Given the description of an element on the screen output the (x, y) to click on. 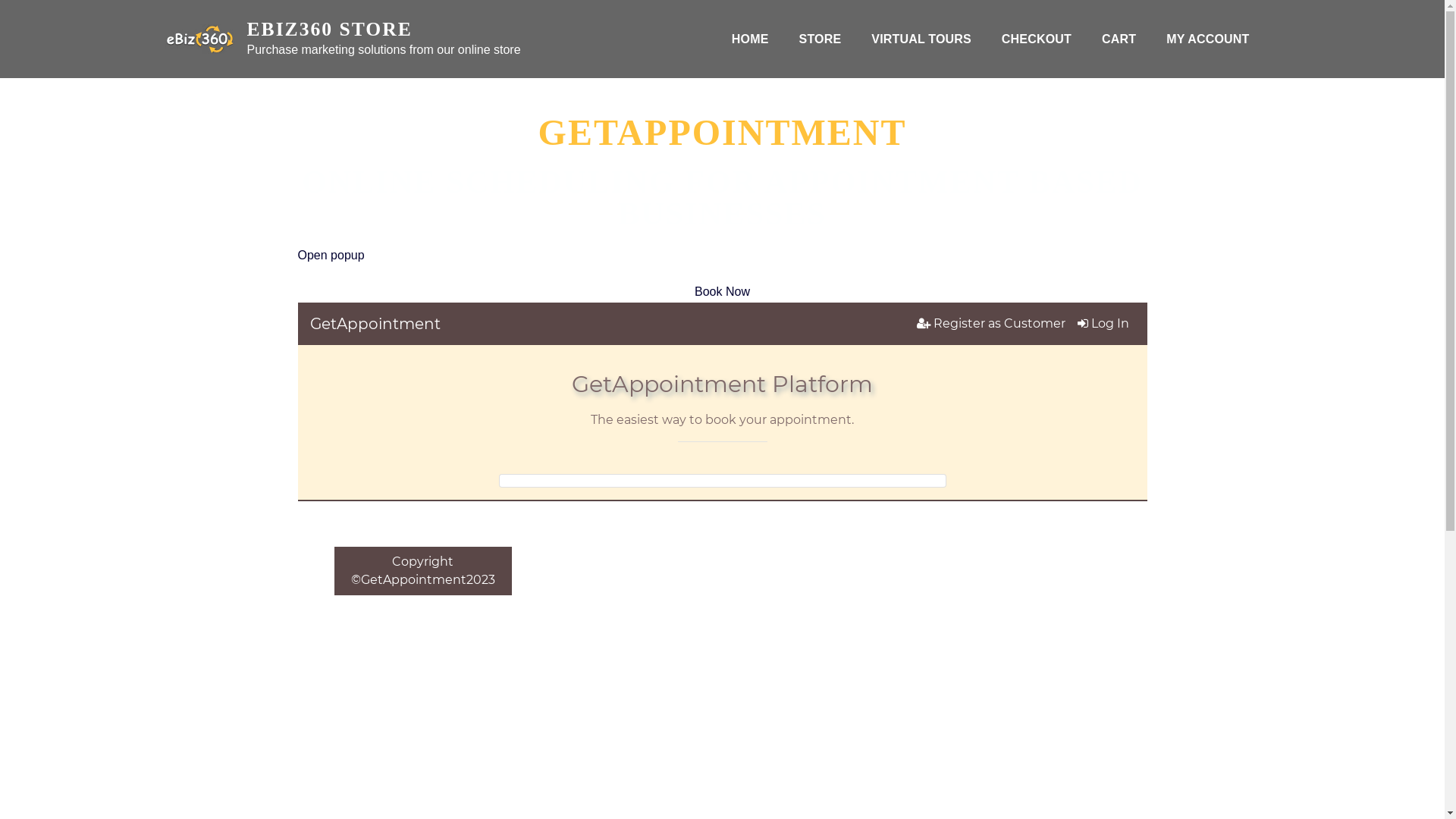
CHECKOUT Element type: text (1036, 39)
Book Now Element type: text (721, 291)
CART Element type: text (1118, 39)
HOME Element type: text (750, 39)
STORE Element type: text (820, 39)
Open popup Element type: text (330, 254)
VIRTUAL TOURS Element type: text (921, 39)
EBIZ360 STORE Element type: text (329, 29)
MY ACCOUNT Element type: text (1207, 39)
